Given the description of an element on the screen output the (x, y) to click on. 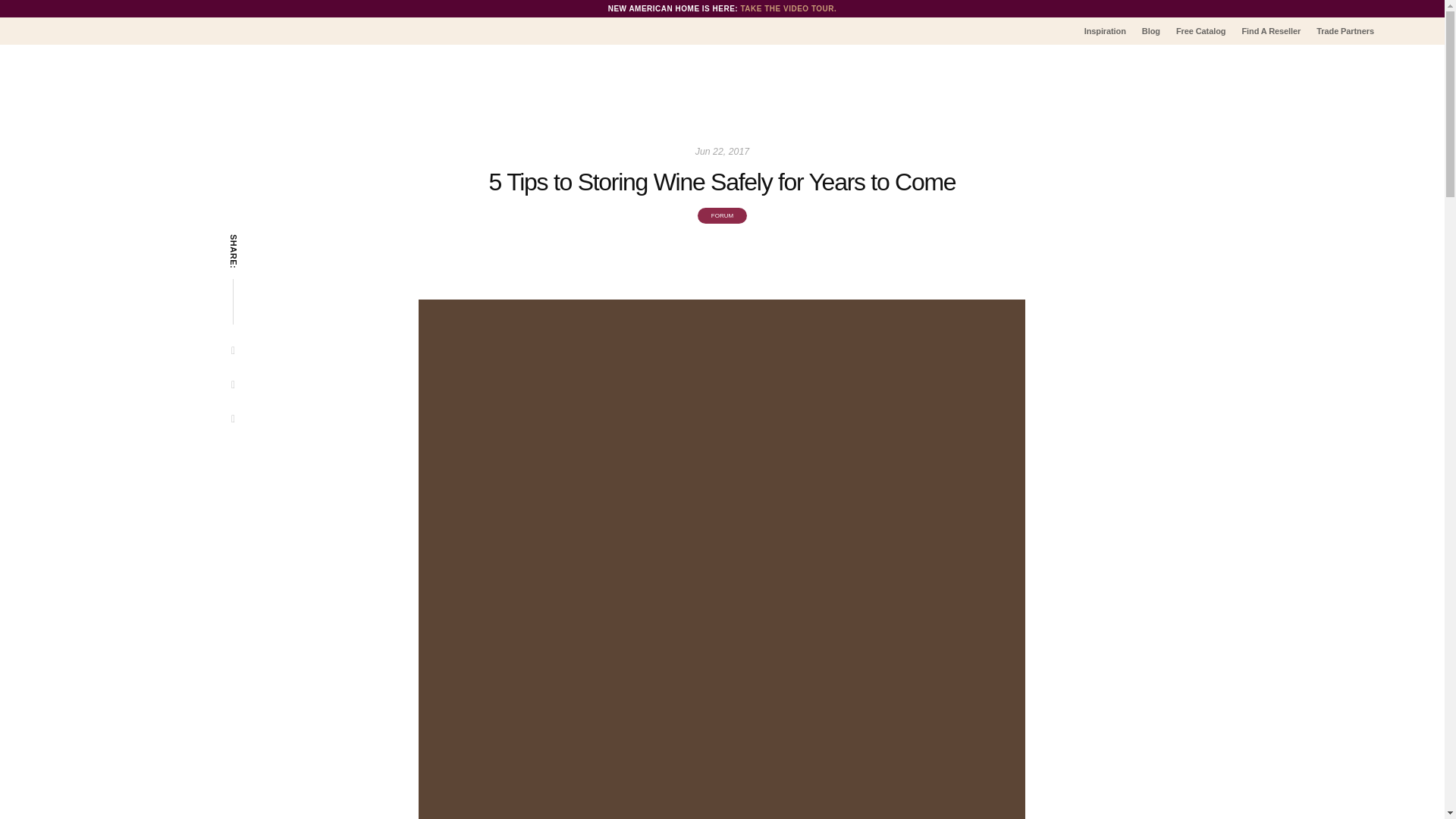
Inspiration (1104, 31)
Blog (1150, 31)
Trade Partners (1345, 31)
Blog (1150, 31)
Trade Partners (1345, 31)
Free Catalog (1200, 31)
Inspiration (1104, 31)
Find A Reseller (1270, 31)
Find A Reseller (1270, 31)
TAKE THE VIDEO TOUR. (787, 8)
Free Catalog (1200, 31)
